Given the description of an element on the screen output the (x, y) to click on. 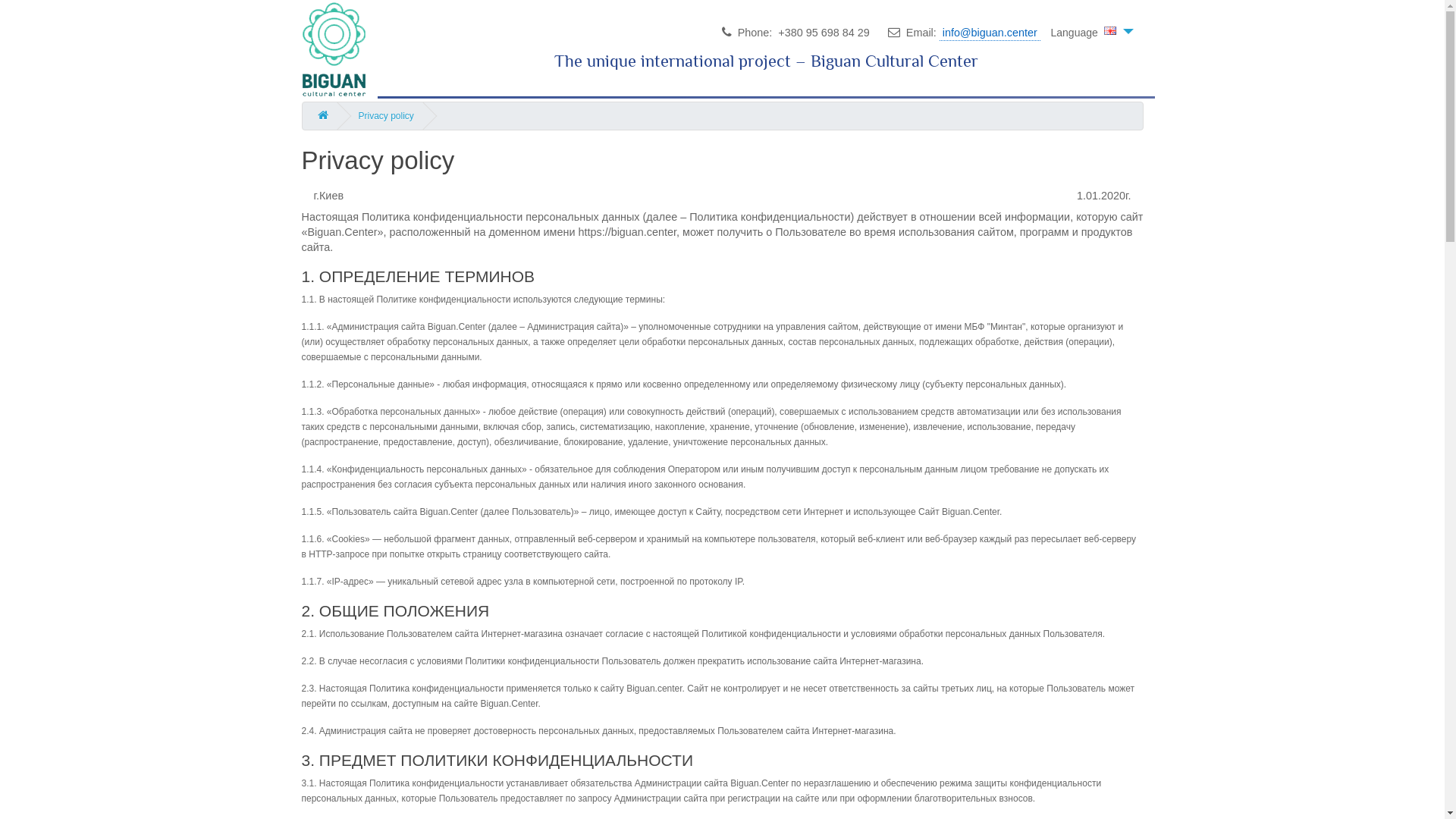
Privacy policy Element type: text (385, 115)
Language Element type: text (1091, 32)
English Element type: hover (1110, 31)
